Given the description of an element on the screen output the (x, y) to click on. 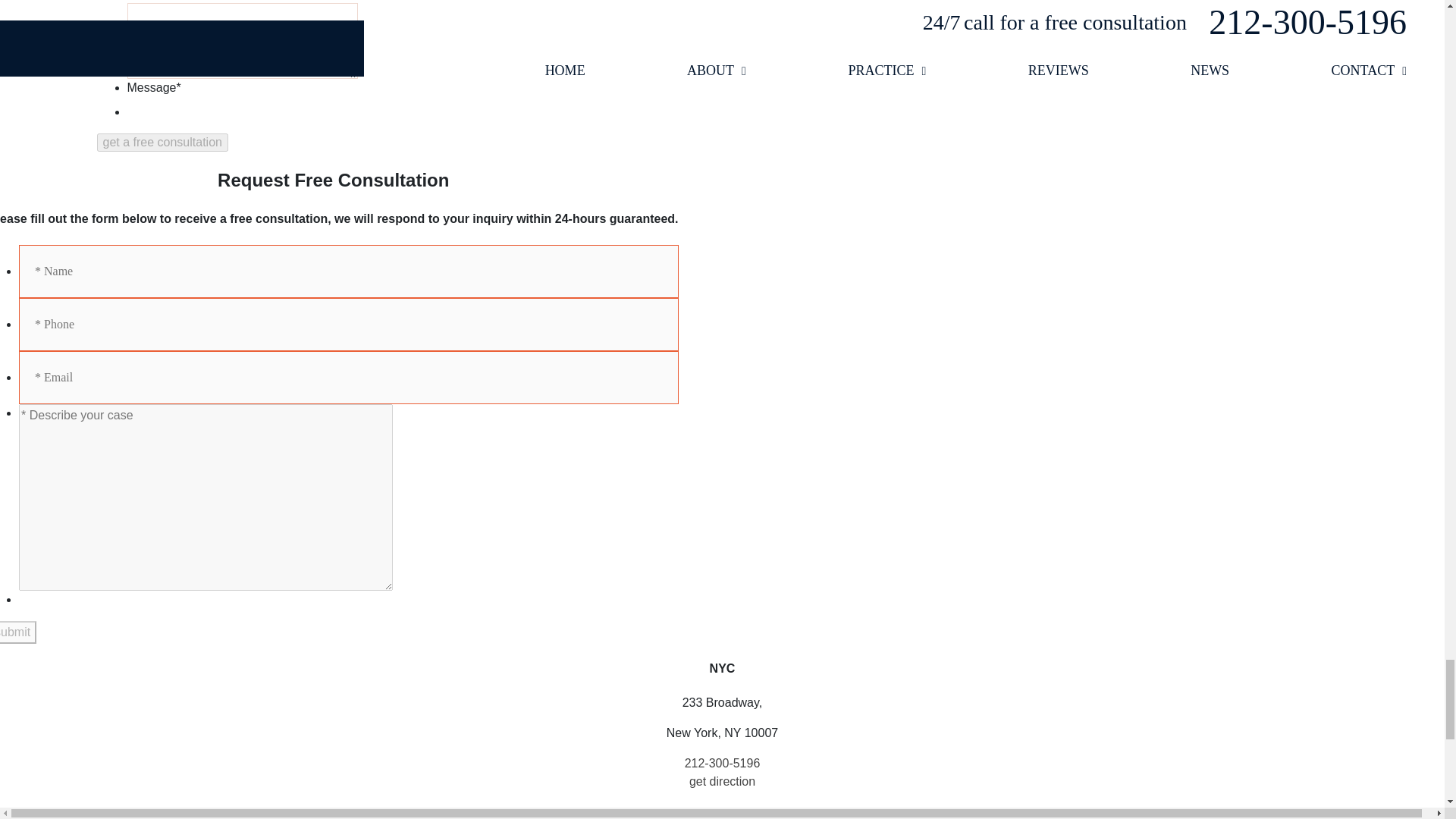
get a free consultation (162, 142)
